Given the description of an element on the screen output the (x, y) to click on. 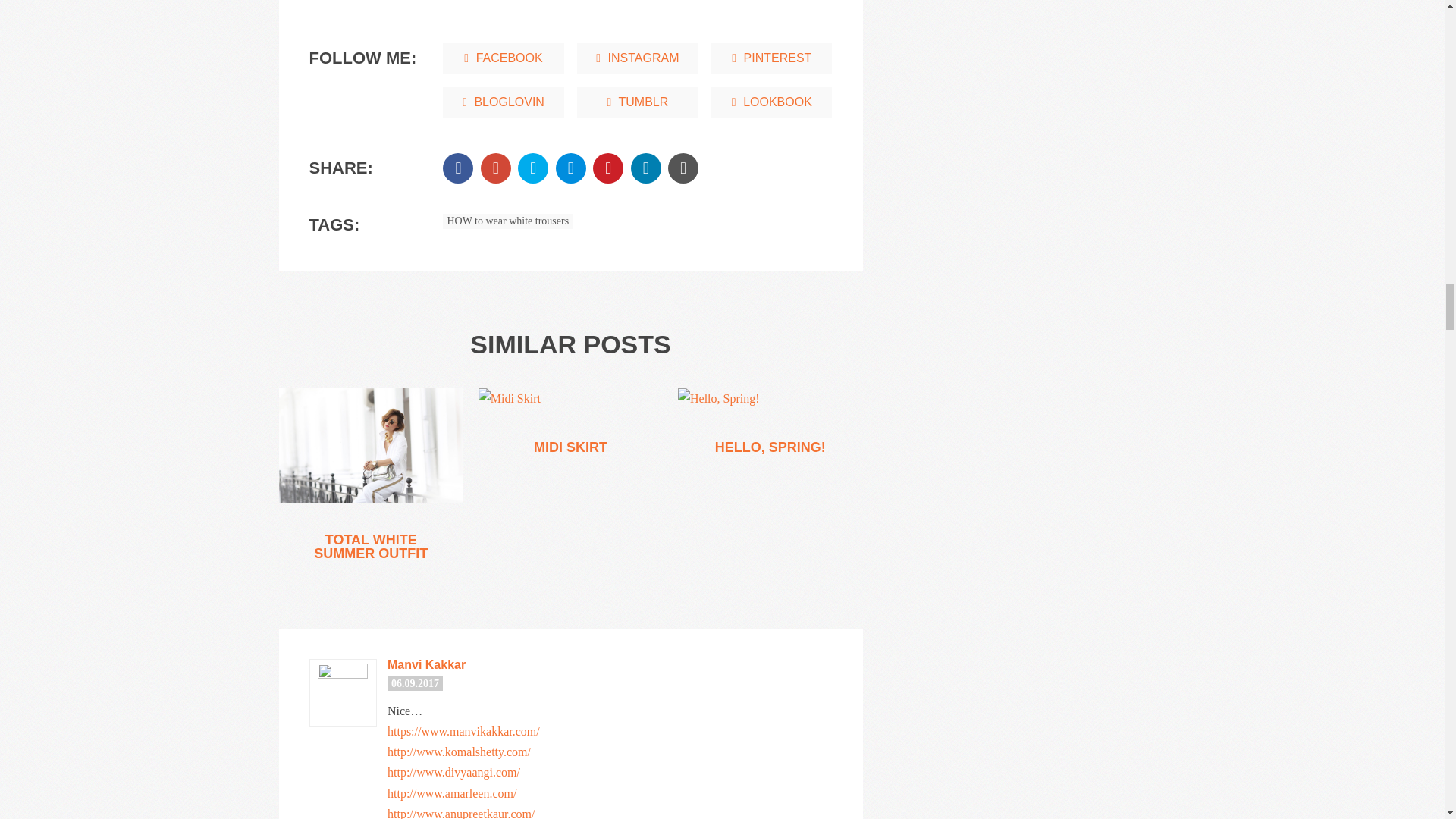
Read more (719, 397)
Lookbook - Follow me (771, 101)
Read more (509, 397)
Facebook - Follow me (502, 58)
Tumblr - Follow me (636, 101)
FACEBOOK (502, 58)
Send in e-mail (683, 168)
BLOGLOVIN (502, 101)
LOOKBOOK (771, 101)
Read more (371, 443)
Tweet it (533, 168)
PINTEREST (771, 58)
Instagram - Follow me (636, 58)
Share on Facebook (457, 168)
Pinterest - Follow me (771, 58)
